Given the description of an element on the screen output the (x, y) to click on. 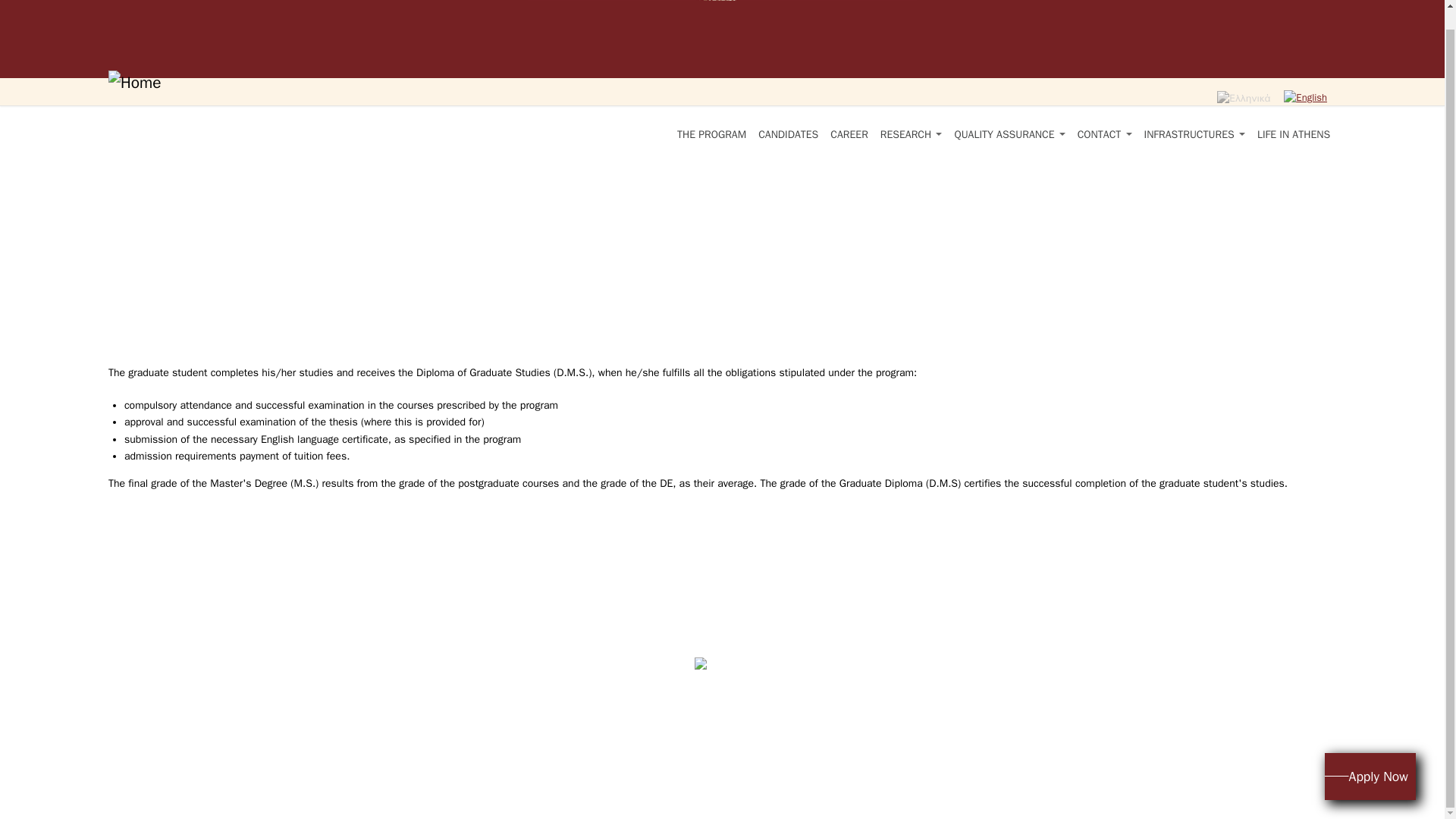
QUALITY ASSURANCE (1008, 134)
CANDIDATES (788, 134)
      Apply Now (1369, 757)
THE PROGRAM (711, 134)
CAREER (849, 134)
RESEARCH (912, 134)
RESEARCH (912, 134)
AWARDED DIPLOMA (1305, 97)
English (1305, 98)
